Given the description of an element on the screen output the (x, y) to click on. 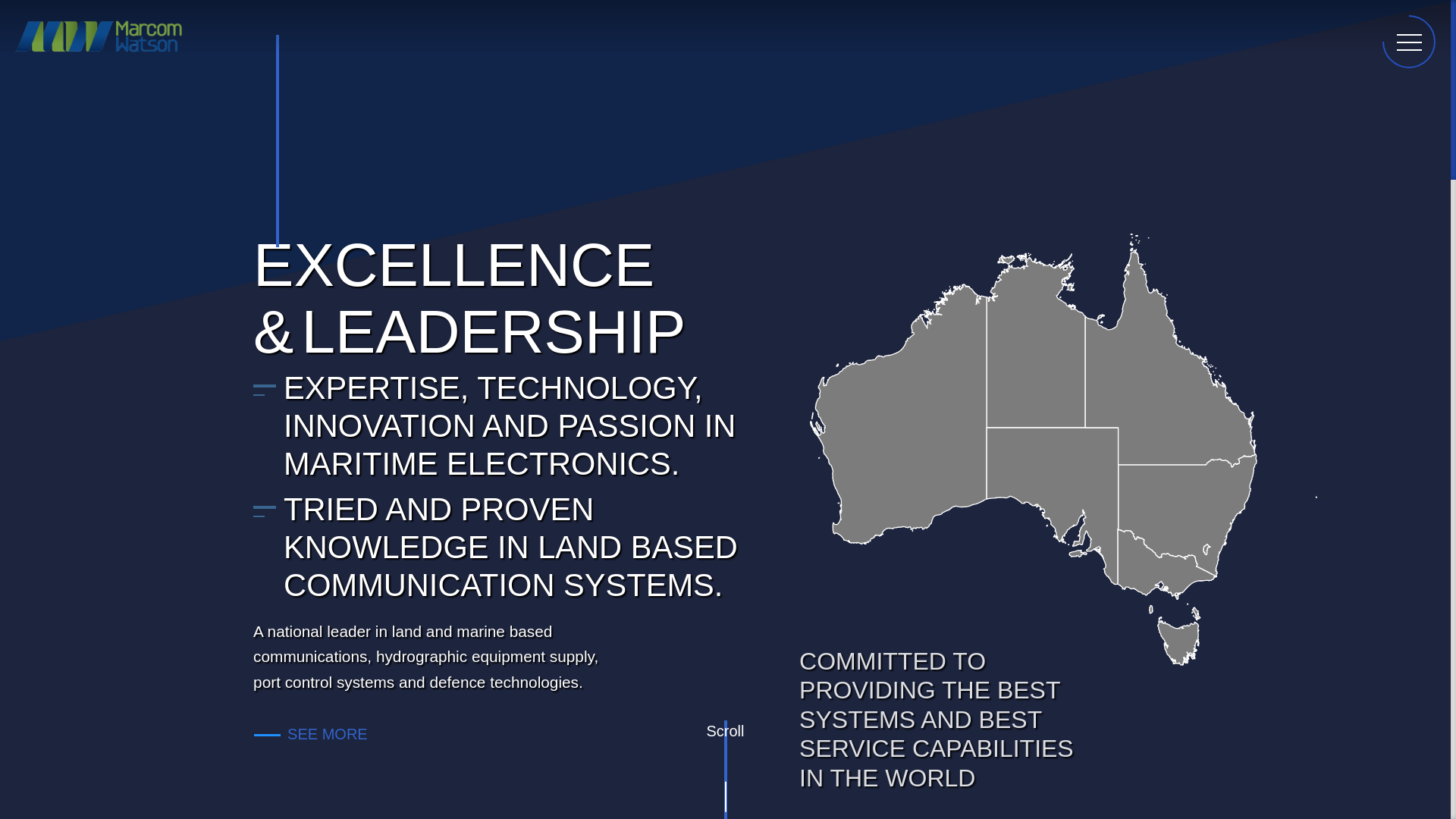
Marcom Watson Logo Element type: hover (98, 53)
SEE MORE Element type: text (319, 733)
